Given the description of an element on the screen output the (x, y) to click on. 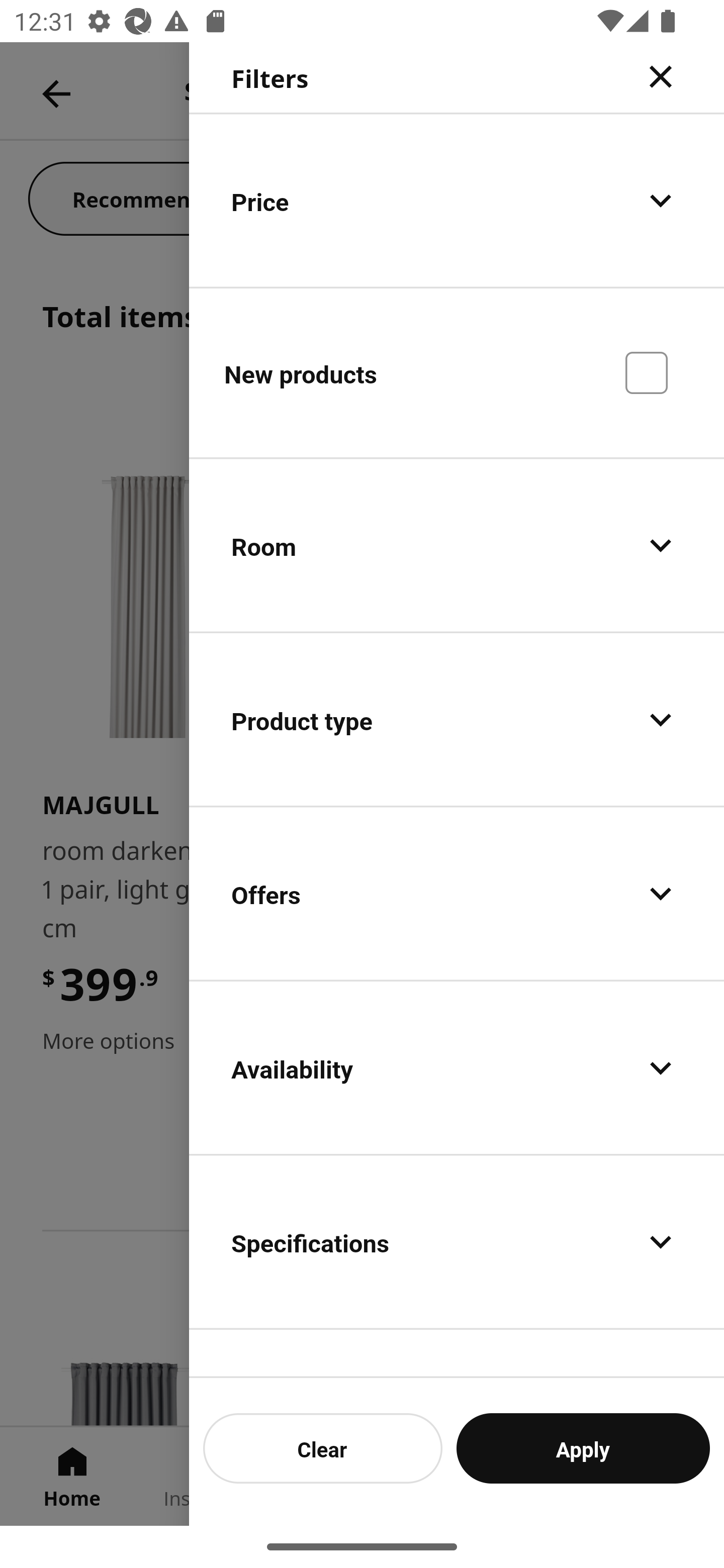
Price (456, 200)
New products (456, 371)
Room (456, 545)
Product type (456, 719)
Offers (456, 893)
Availability (456, 1067)
Specifications (456, 1241)
Clear (322, 1447)
Apply (583, 1447)
